Given the description of an element on the screen output the (x, y) to click on. 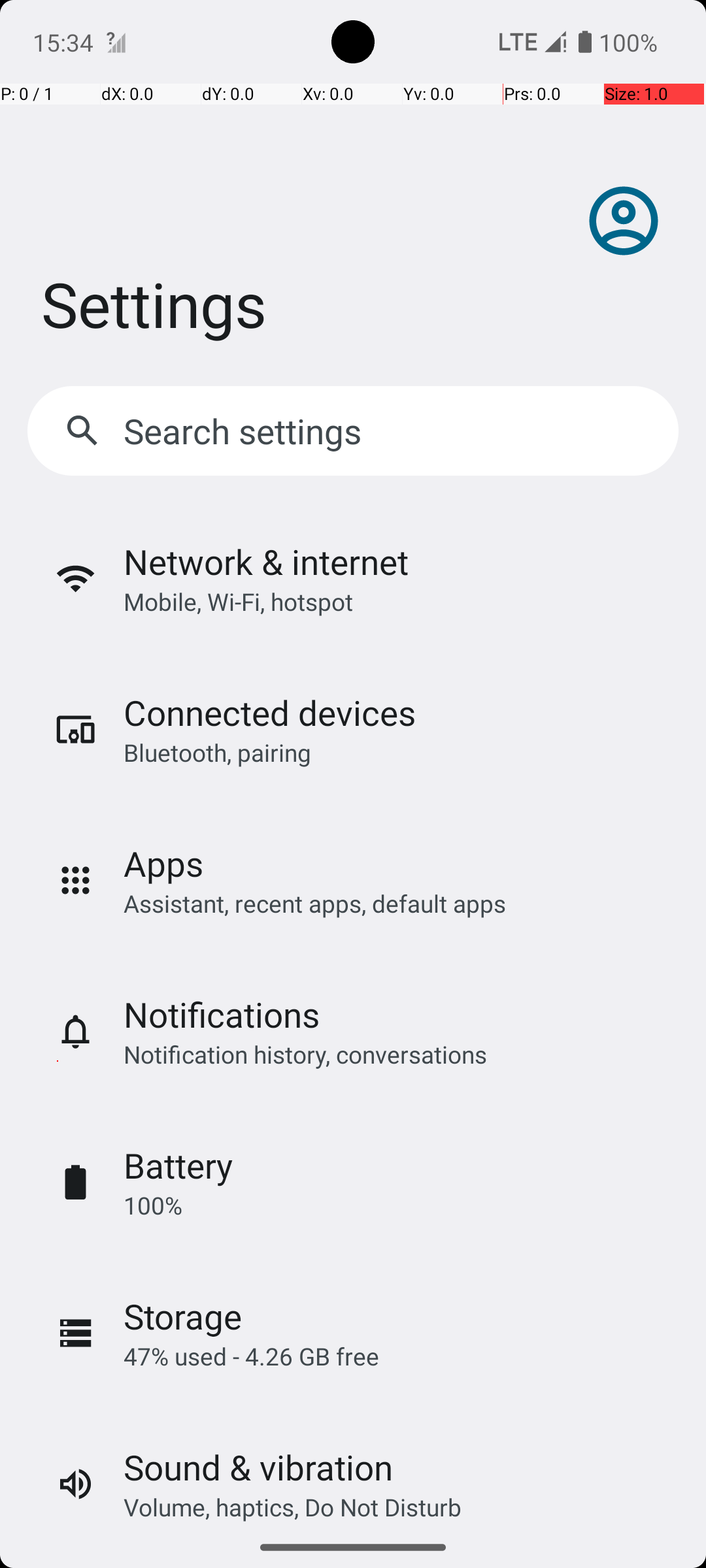
47% used - 4.26 GB free Element type: android.widget.TextView (251, 1355)
